Given the description of an element on the screen output the (x, y) to click on. 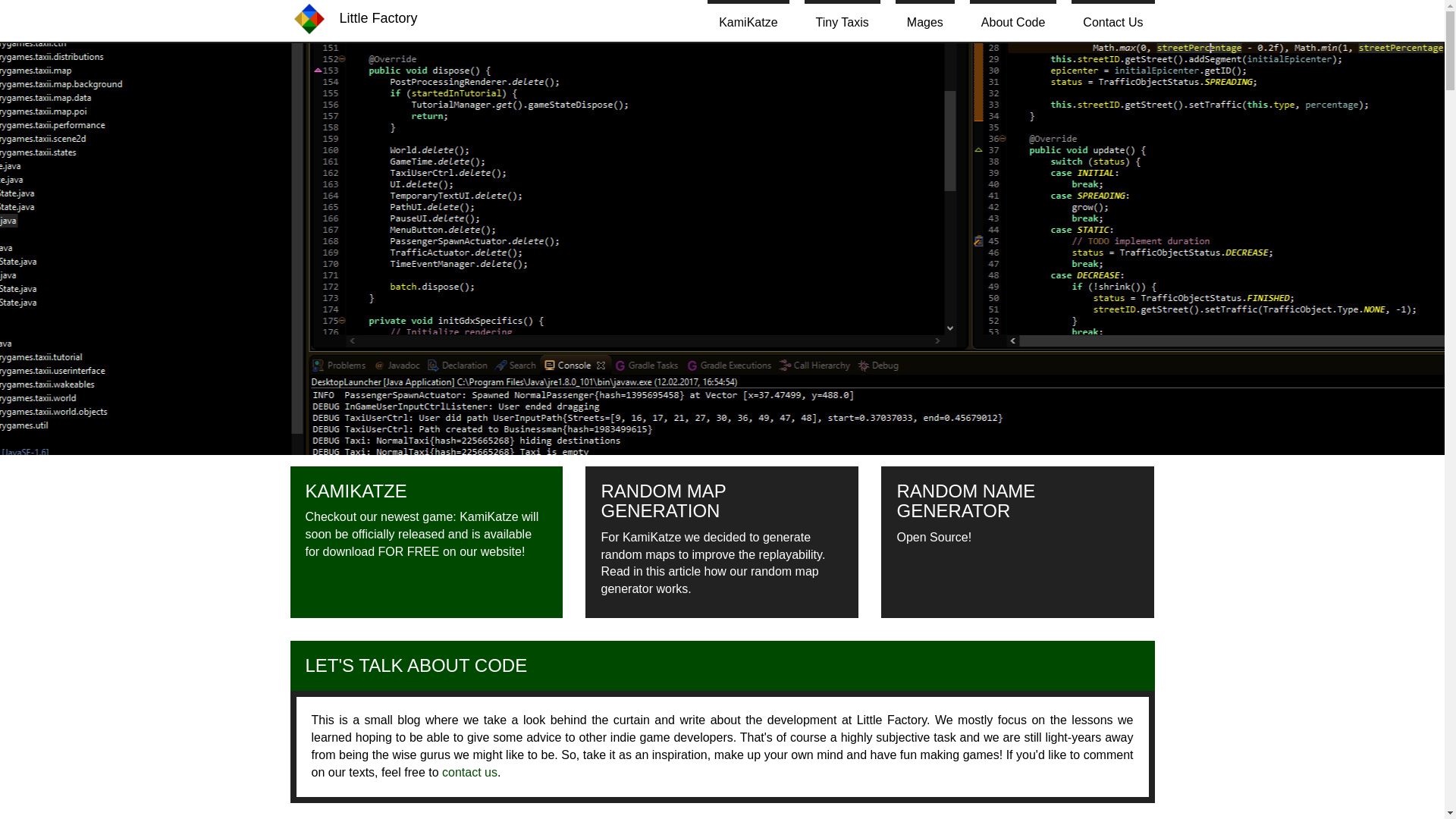
About Code (1013, 20)
Mages (925, 20)
contact us (469, 771)
Contact Us (1112, 20)
KamiKatze (748, 20)
Little Factory (354, 18)
Tiny Taxis (842, 20)
